Given the description of an element on the screen output the (x, y) to click on. 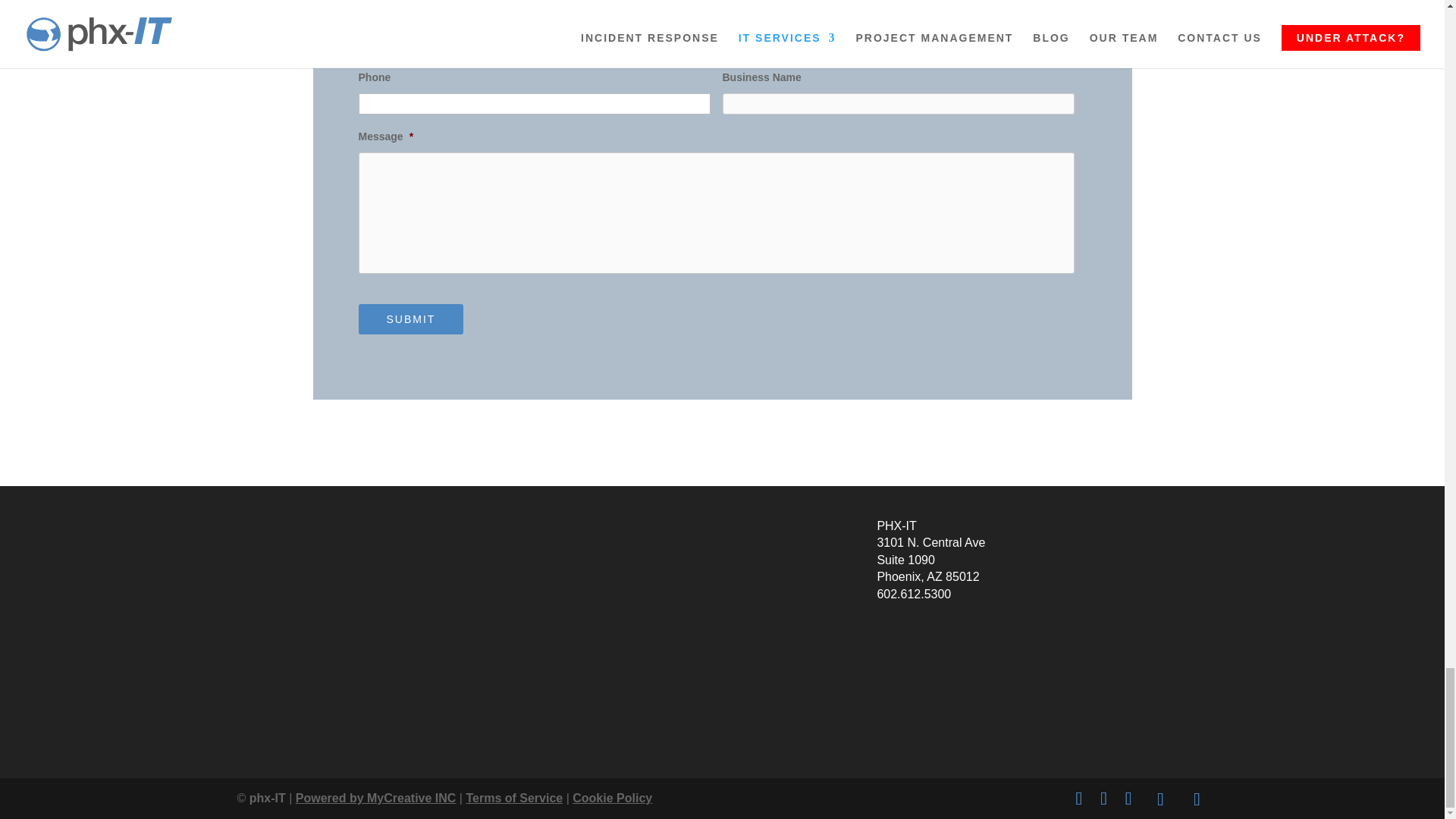
Submit (410, 318)
